Given the description of an element on the screen output the (x, y) to click on. 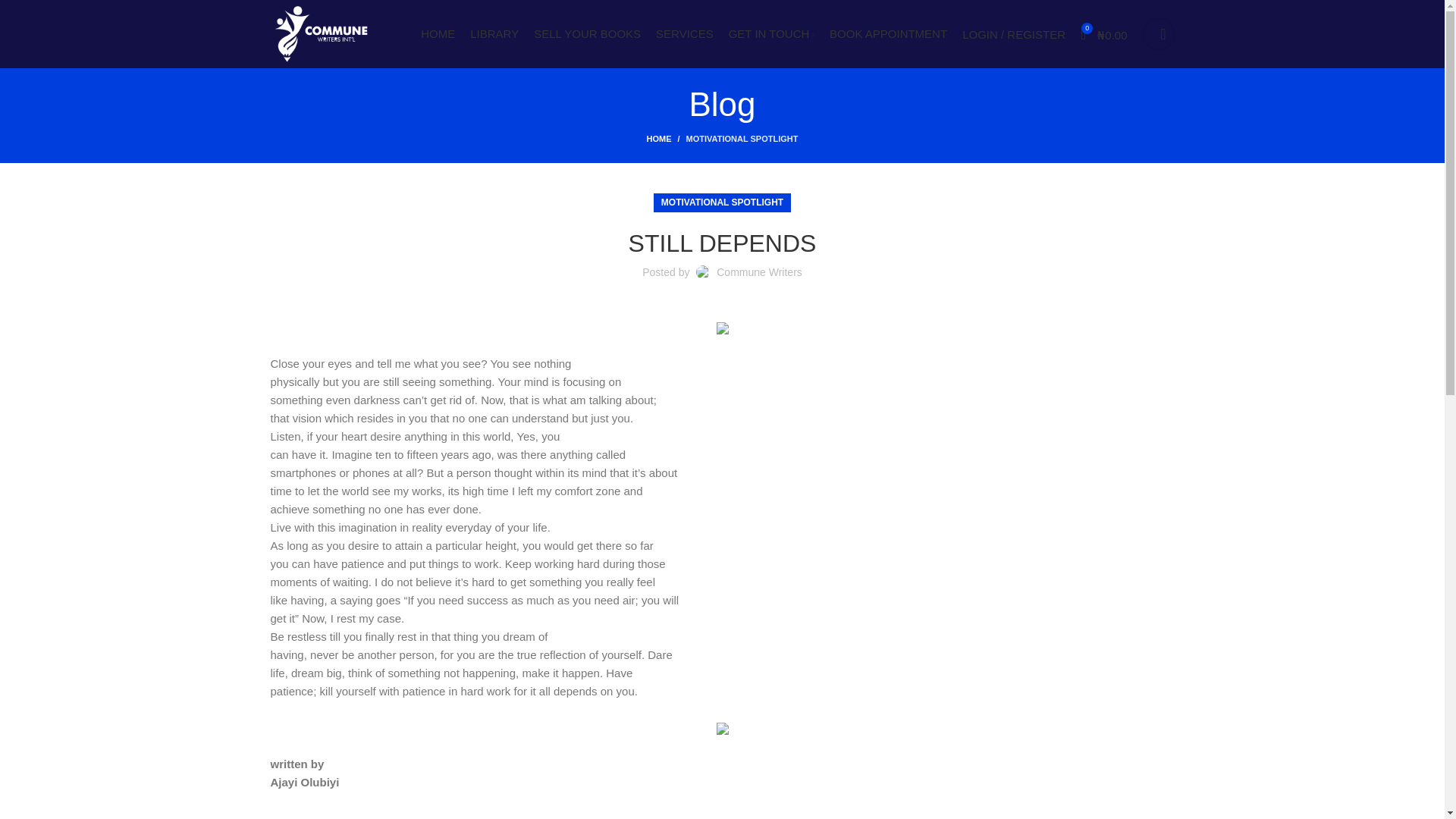
MOTIVATIONAL SPOTLIGHT (741, 138)
Shopping cart (1104, 33)
BOOK APPOINTMENT (888, 33)
My account (1014, 33)
Search (1157, 33)
SERVICES (684, 33)
Commune Writers (759, 272)
HOME (437, 33)
MOTIVATIONAL SPOTLIGHT (722, 202)
GET IN TOUCH (771, 33)
